Given the description of an element on the screen output the (x, y) to click on. 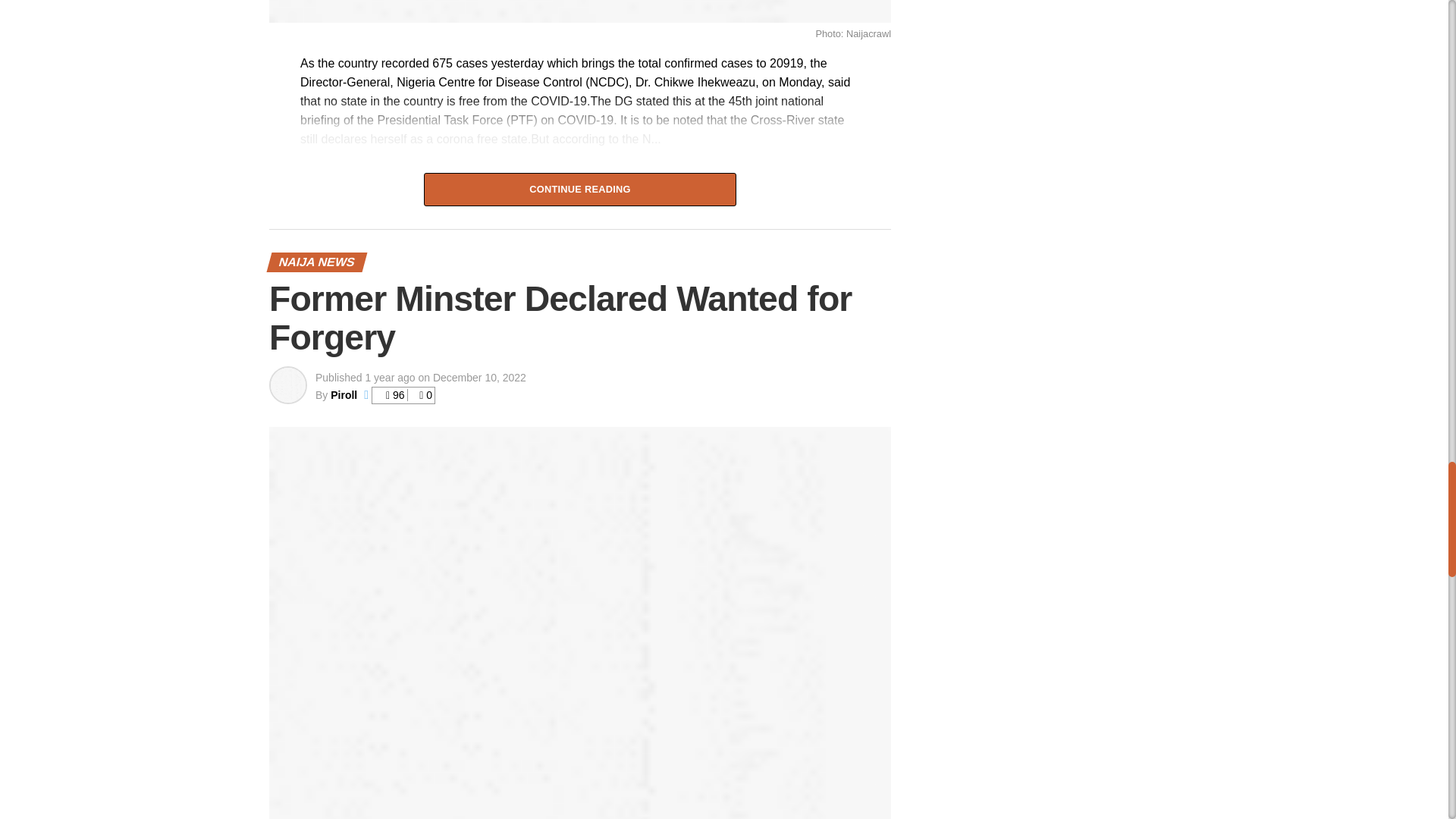
Posts by Piroll (343, 395)
